Given the description of an element on the screen output the (x, y) to click on. 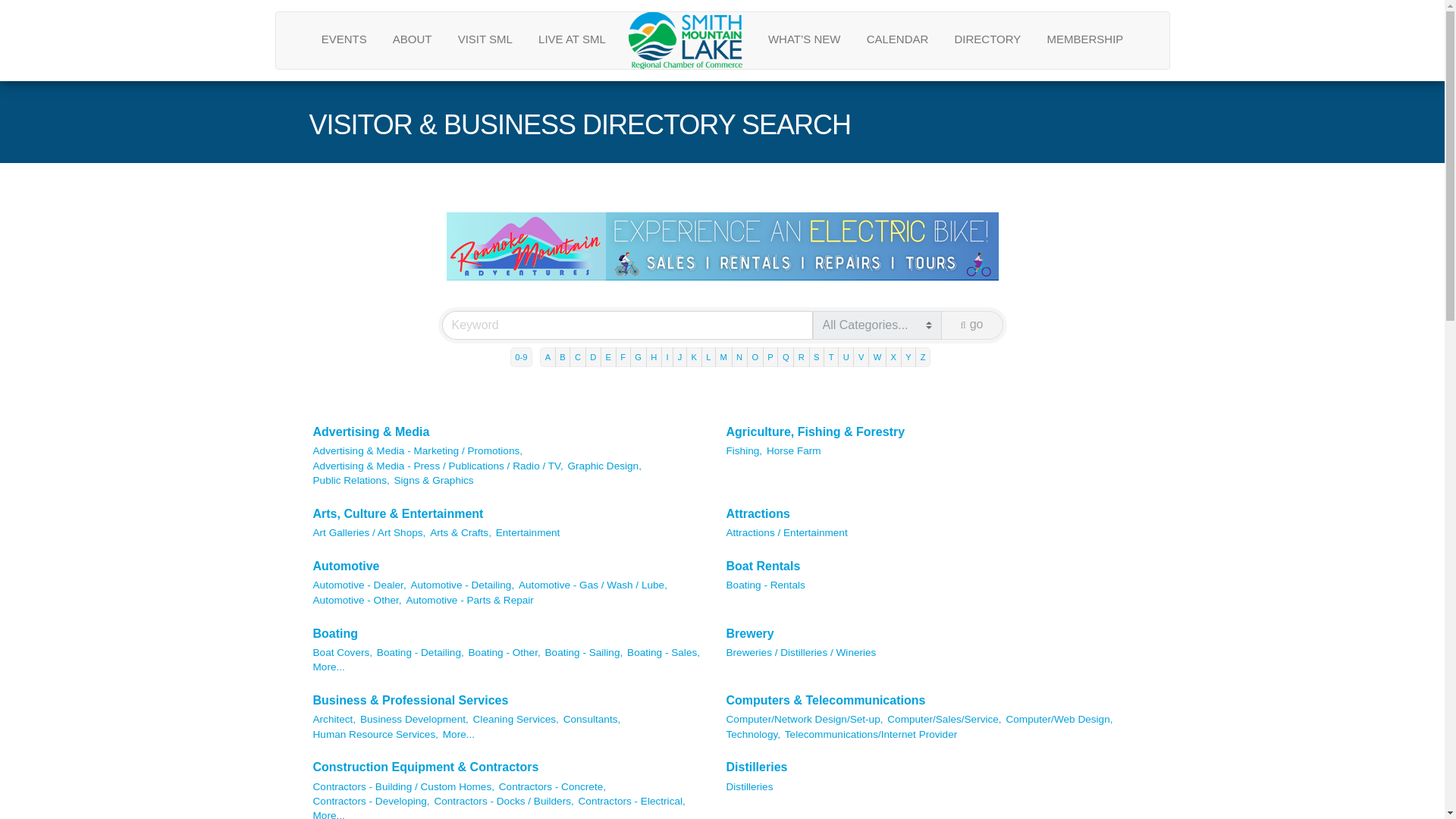
ABOUT (412, 38)
VISIT SML (485, 38)
EVENTS (344, 38)
